Given the description of an element on the screen output the (x, y) to click on. 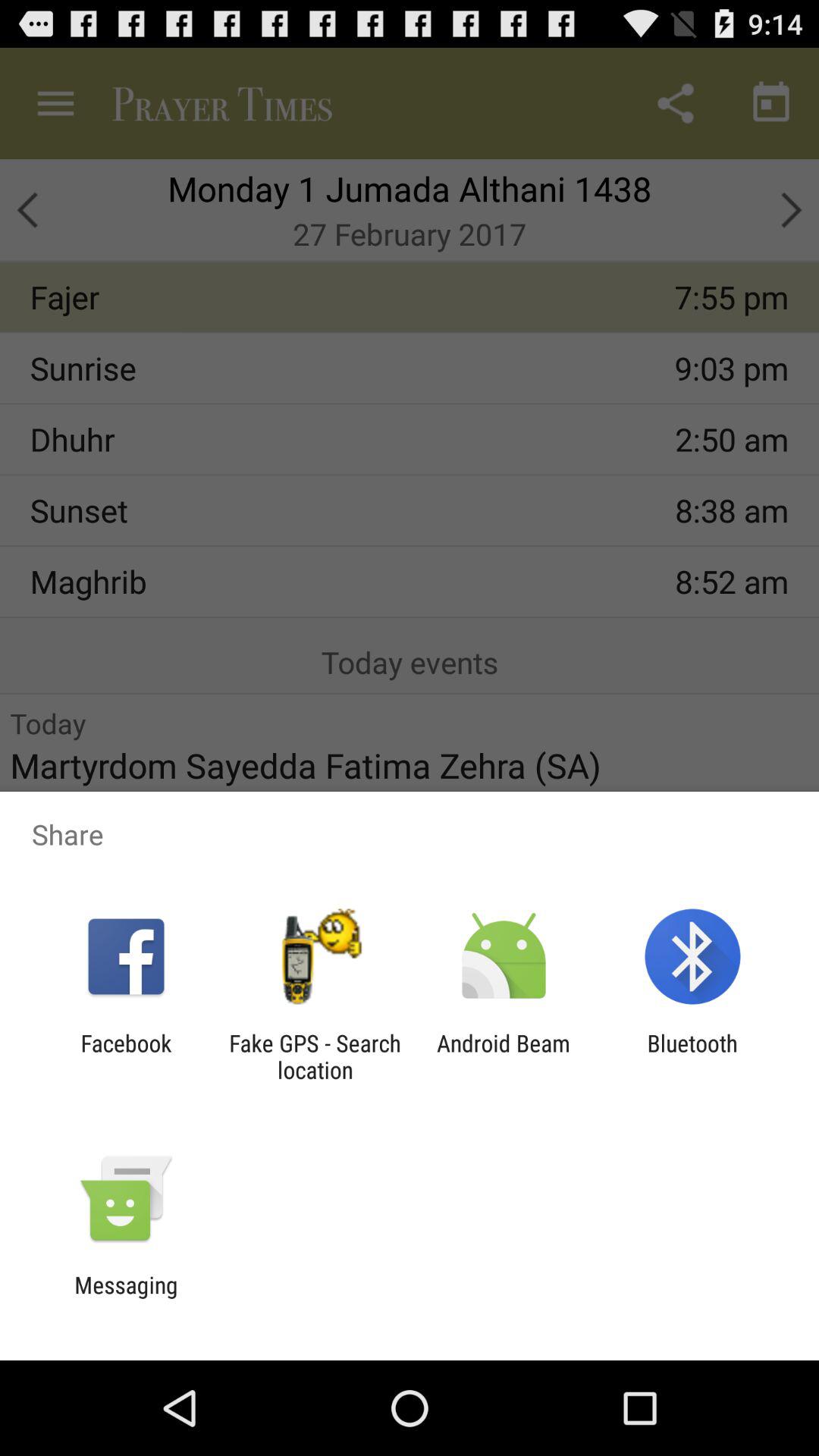
press the app next to facebook icon (314, 1056)
